Given the description of an element on the screen output the (x, y) to click on. 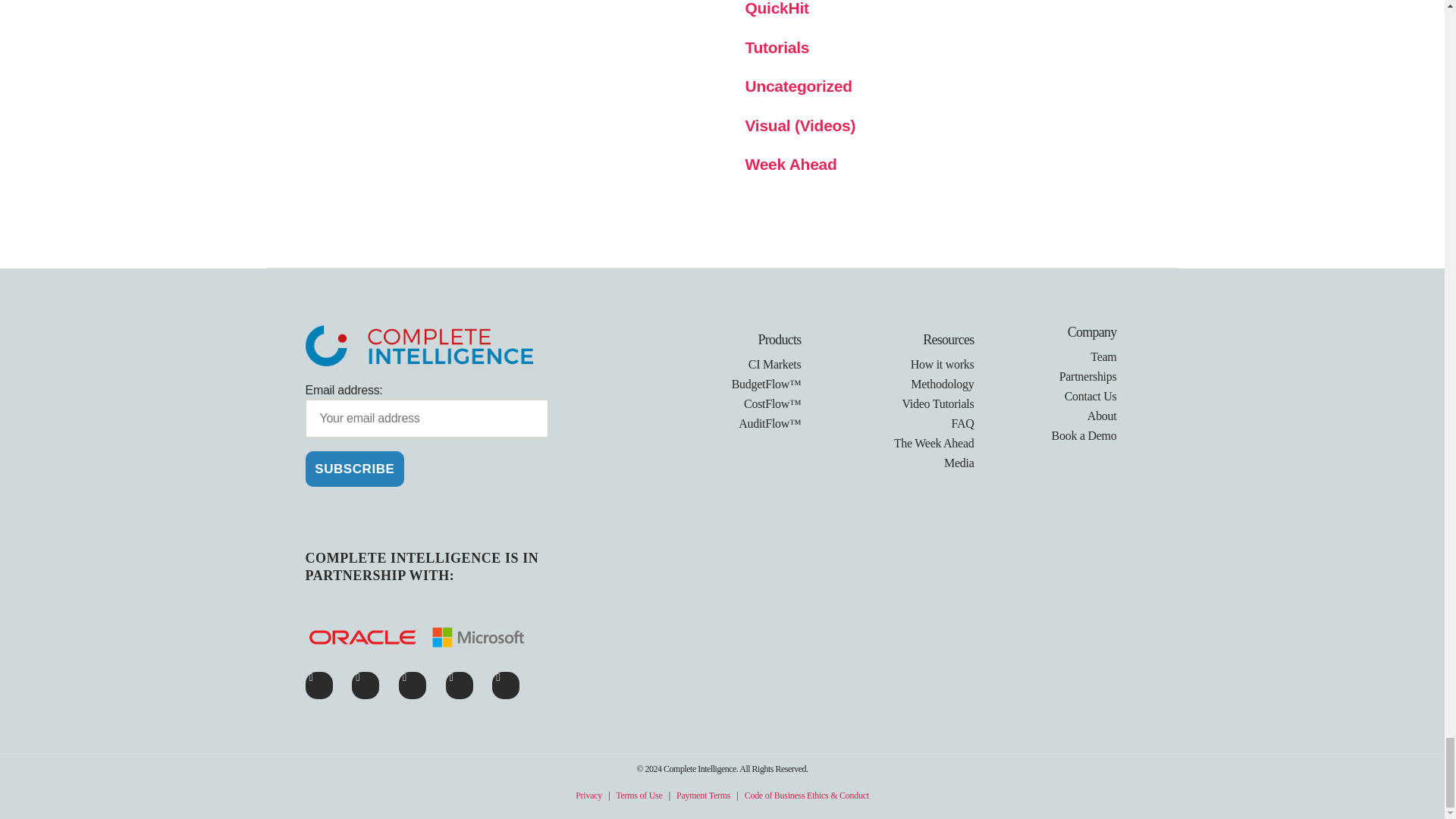
Subscribe (354, 468)
